Given the description of an element on the screen output the (x, y) to click on. 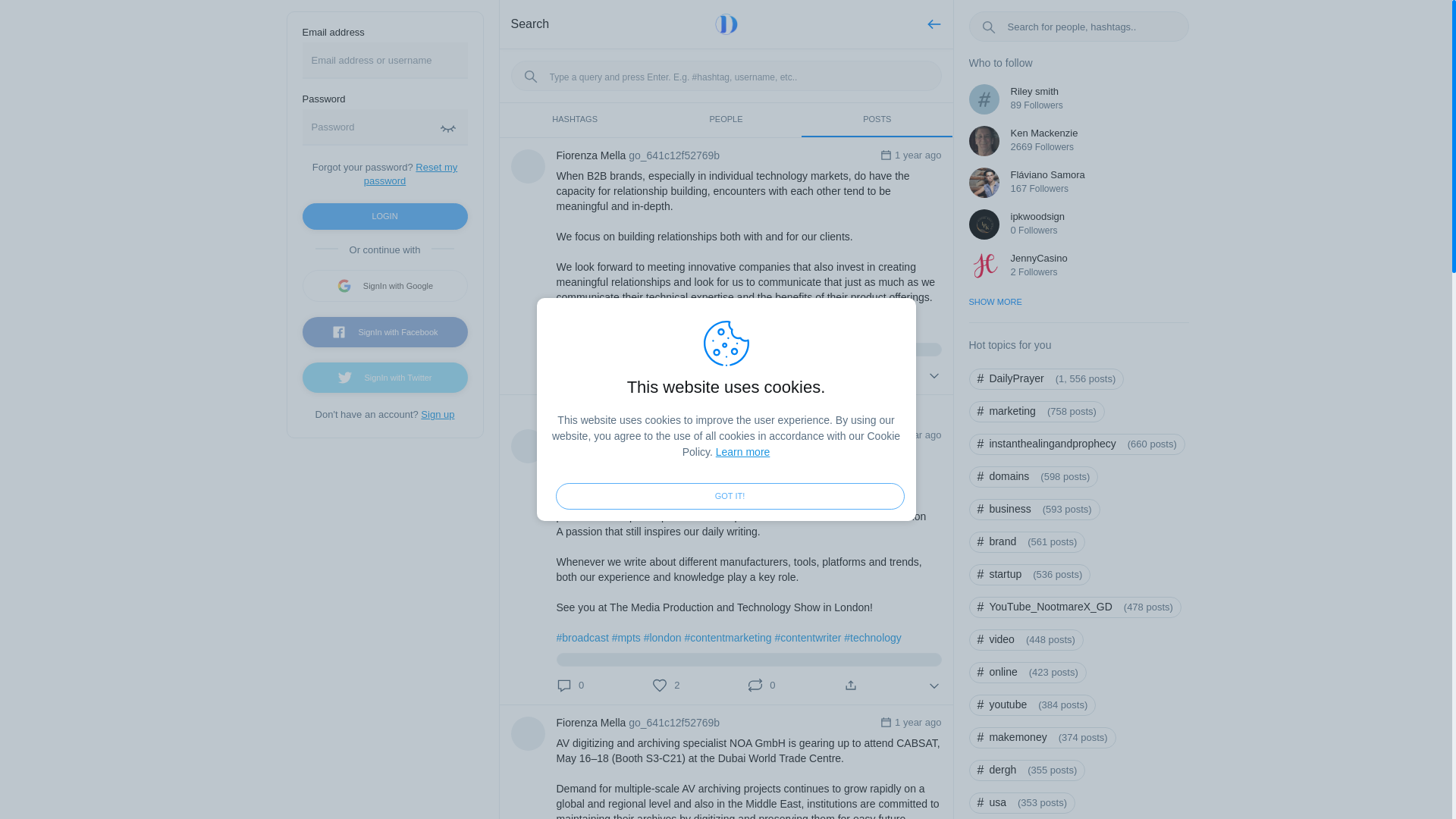
SignIn with Facebook (384, 331)
PEOPLE (726, 119)
LOGIN (384, 216)
Search (530, 23)
Reset my password (411, 173)
0 (665, 375)
0 (762, 375)
SignIn with Google (384, 286)
Sign up (437, 414)
PEOPLE (726, 120)
